Given the description of an element on the screen output the (x, y) to click on. 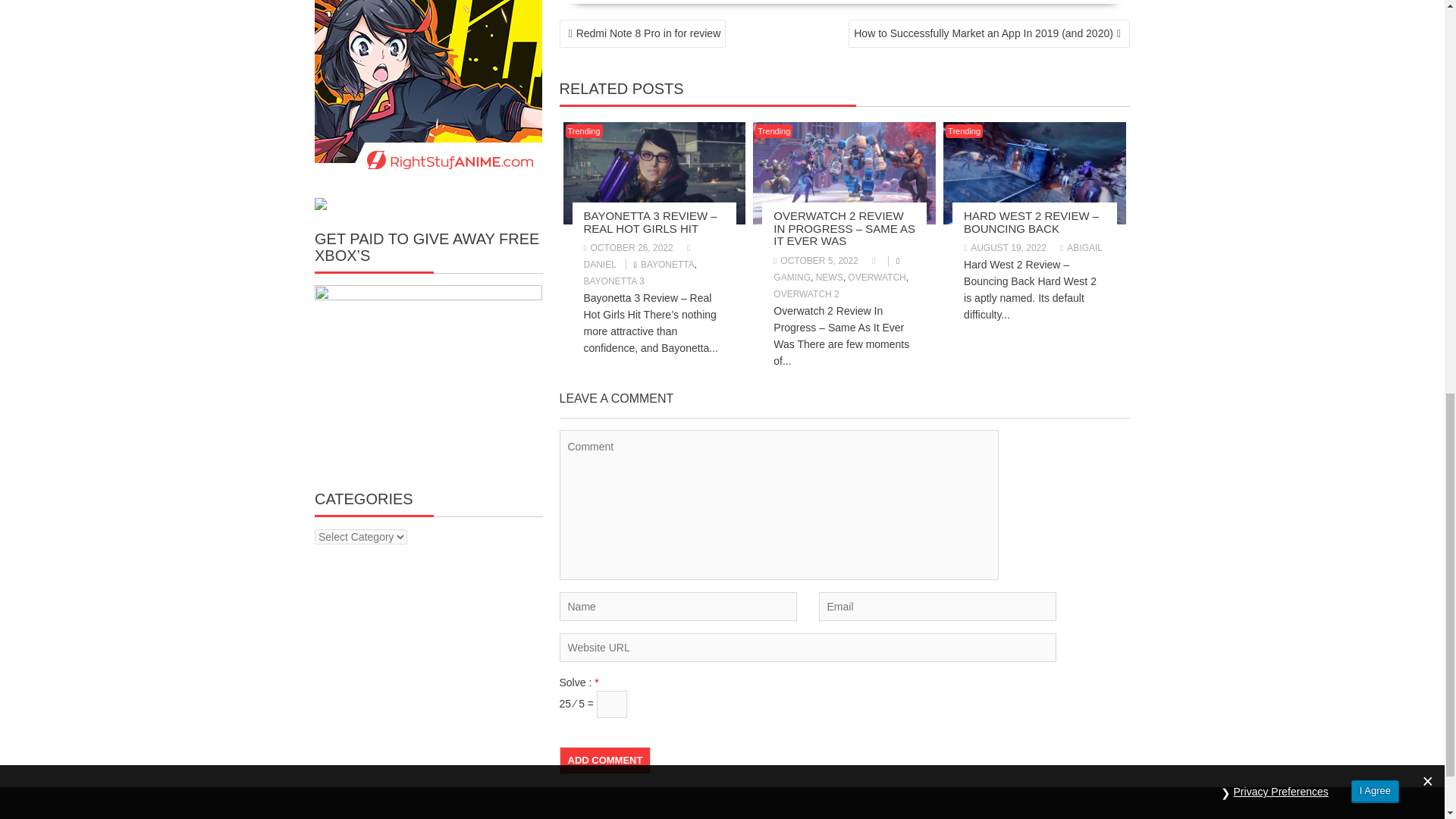
BAYONETTA (667, 264)
Redmi Note 8 Pro in for review (642, 33)
Add Comment (604, 759)
Trending (584, 131)
OCTOBER 5, 2022 (816, 260)
OCTOBER 26, 2022 (627, 247)
Trending (773, 131)
DANIEL (638, 256)
BAYONETTA 3 (614, 281)
